Given the description of an element on the screen output the (x, y) to click on. 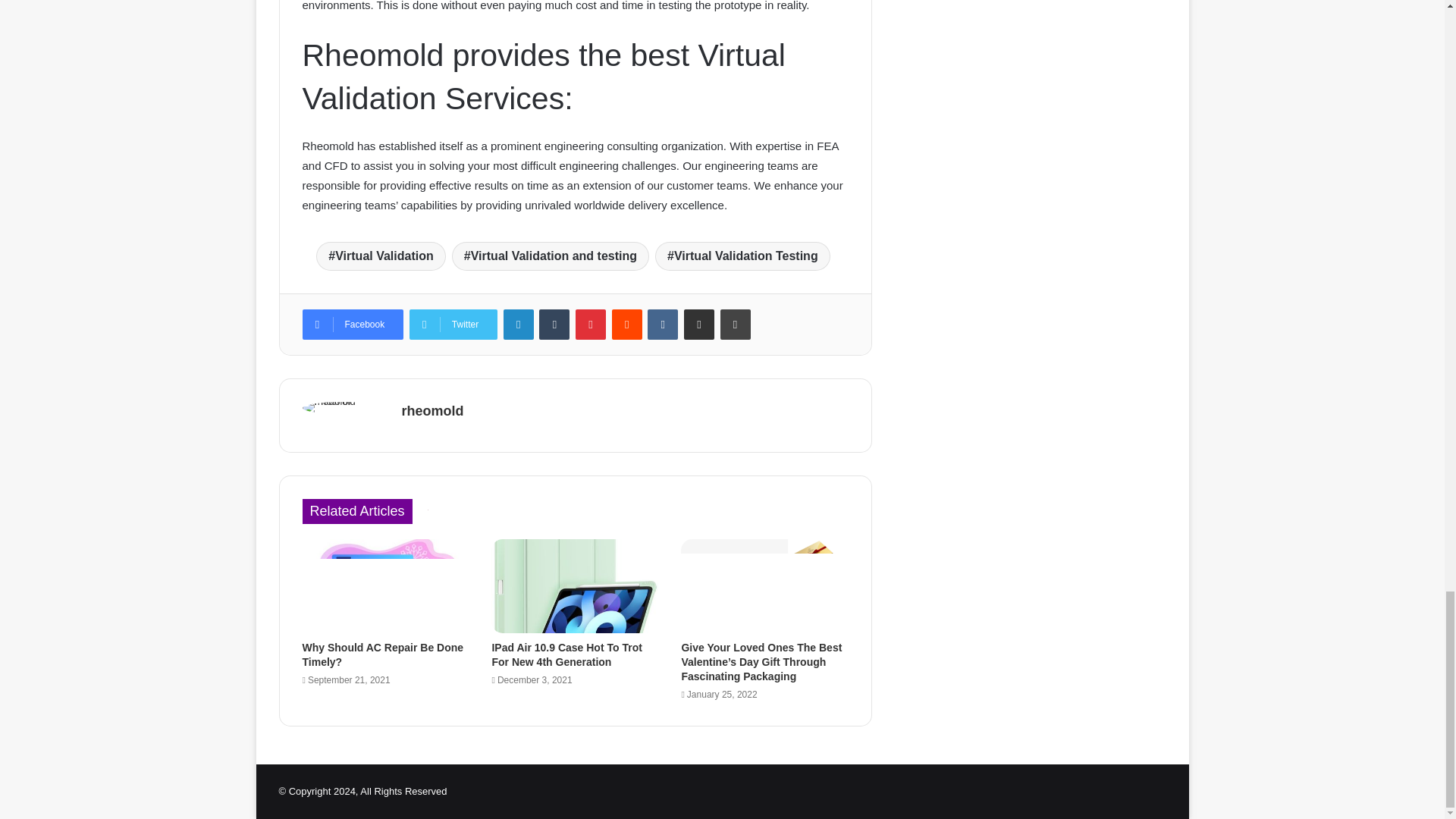
Tumblr (553, 324)
Twitter (453, 324)
Pinterest (590, 324)
Virtual Validation Testing (742, 256)
Virtual Validation and testing (550, 256)
Virtual Validation (380, 256)
Twitter (453, 324)
Reddit (626, 324)
Tumblr (553, 324)
Facebook (352, 324)
